Given the description of an element on the screen output the (x, y) to click on. 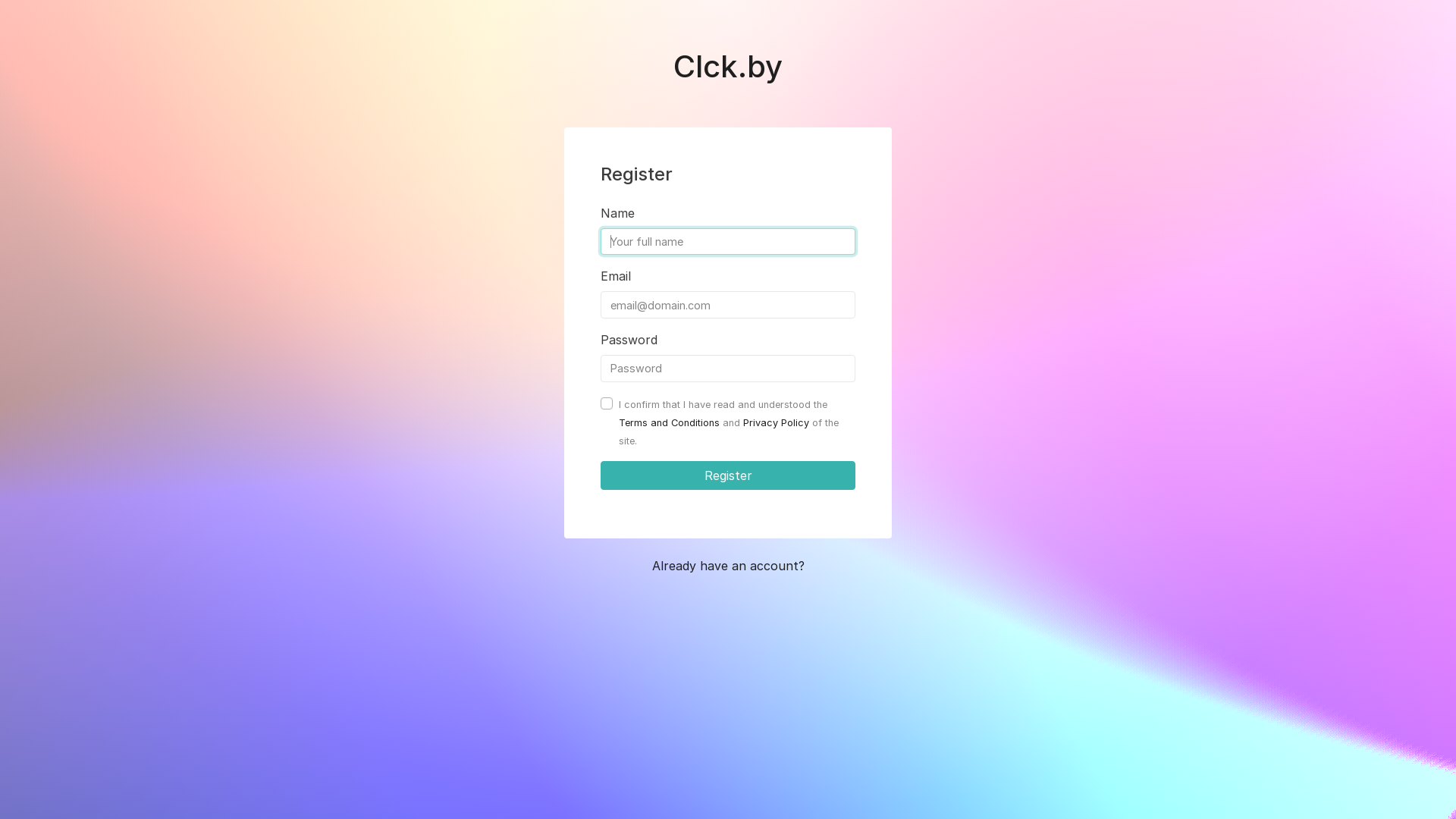
Already have an account? Element type: text (728, 565)
Privacy Policy Element type: text (776, 422)
Clck.by Element type: text (727, 69)
Register Element type: text (728, 475)
Terms and Conditions Element type: text (668, 422)
